Given the description of an element on the screen output the (x, y) to click on. 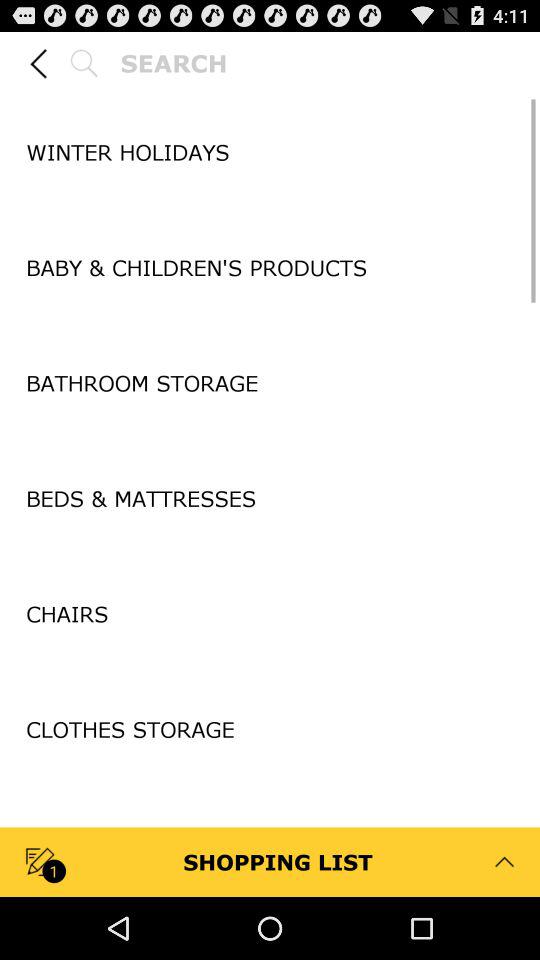
turn on the icon above the winter holidays item (270, 95)
